Given the description of an element on the screen output the (x, y) to click on. 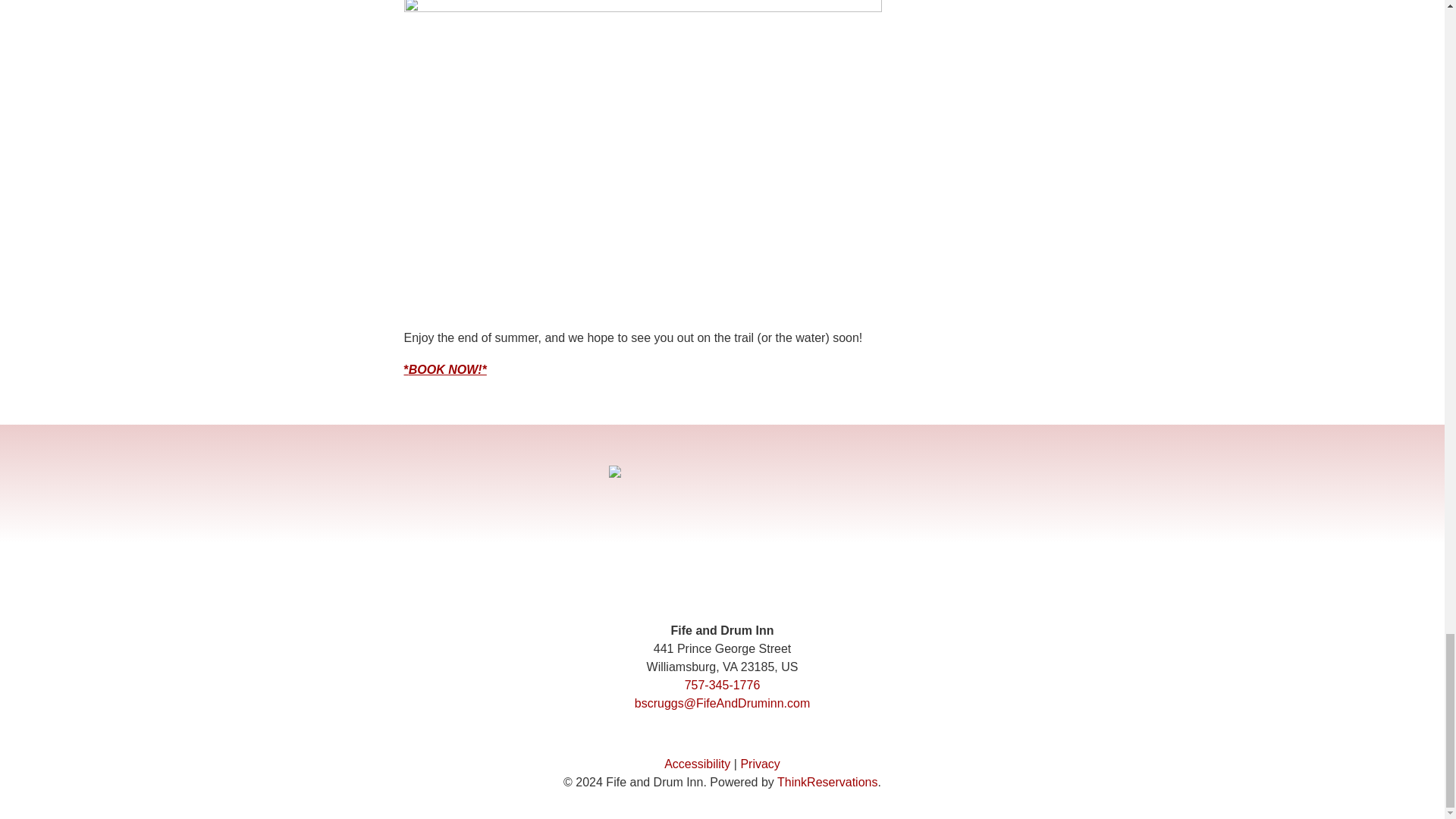
757-345-1776 (722, 684)
